Given the description of an element on the screen output the (x, y) to click on. 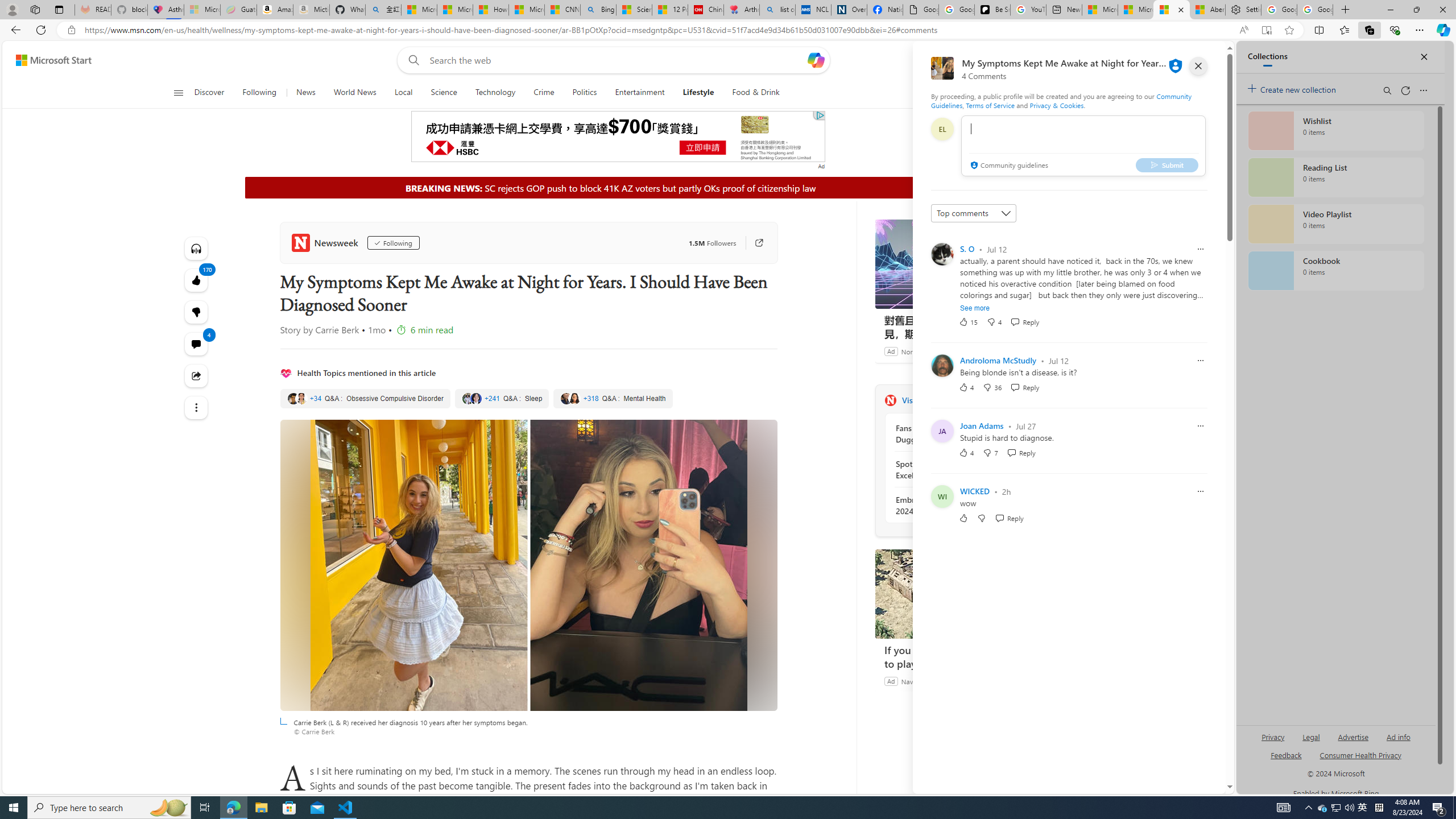
Profile Picture (941, 365)
Fans React to Shocking Detail in Duggar Family Wedding Photo (957, 433)
CNN - MSN (562, 9)
Reply Reply Comment (1008, 517)
Androloma McStudly (997, 360)
